Given the description of an element on the screen output the (x, y) to click on. 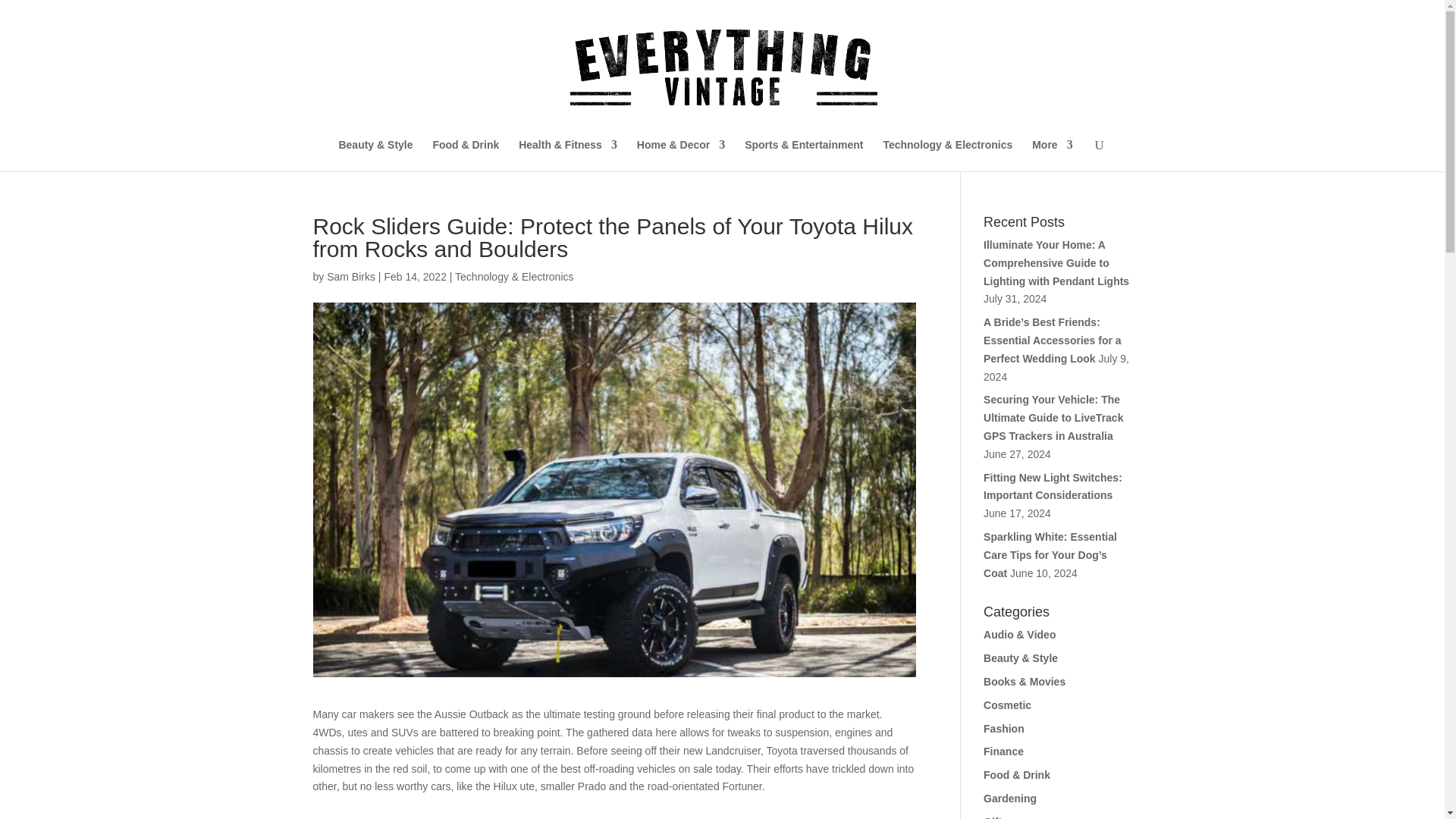
Fitting New Light Switches: Important Considerations (1053, 486)
More (1051, 155)
